Given the description of an element on the screen output the (x, y) to click on. 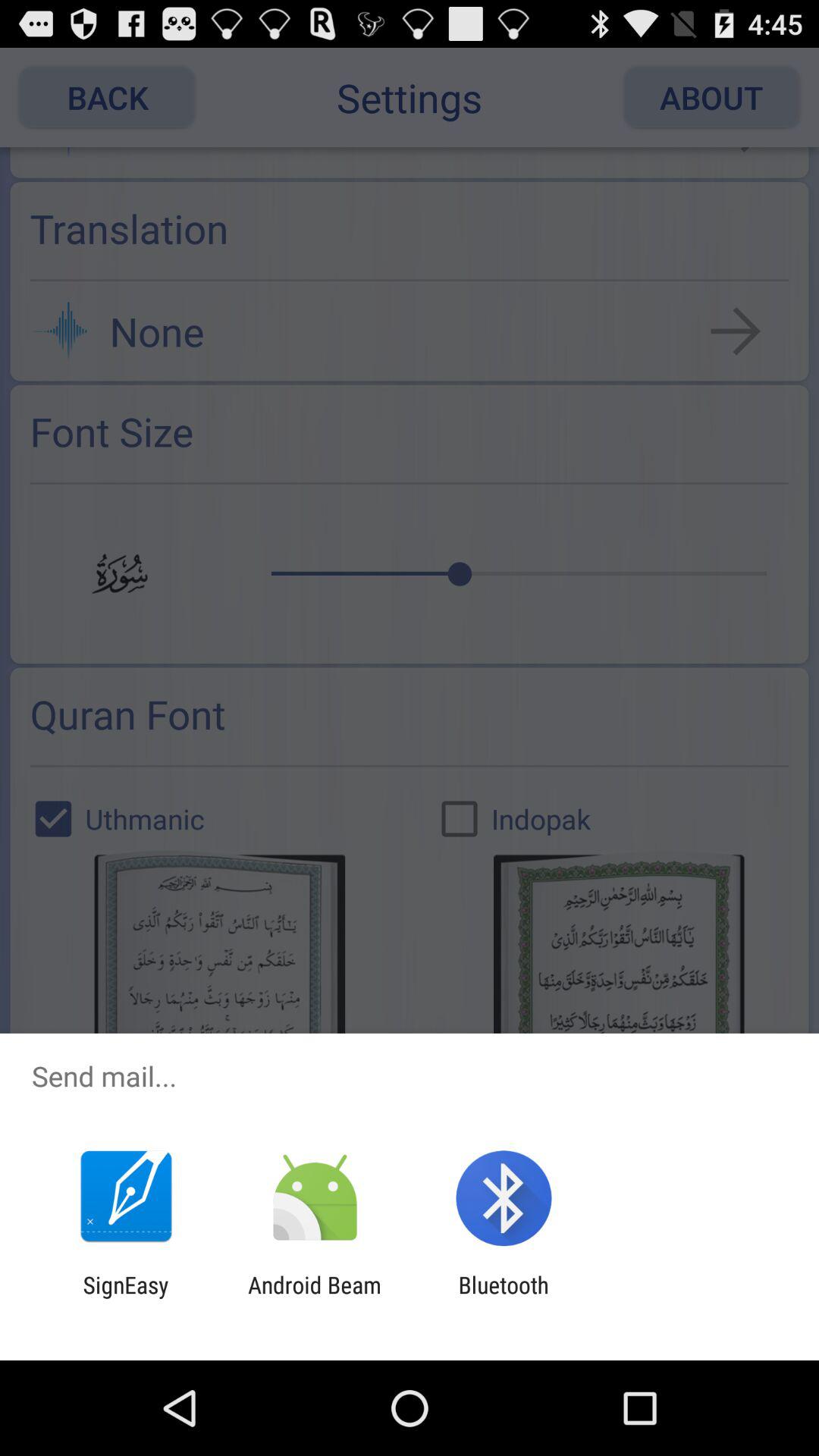
open icon next to bluetooth item (314, 1298)
